Given the description of an element on the screen output the (x, y) to click on. 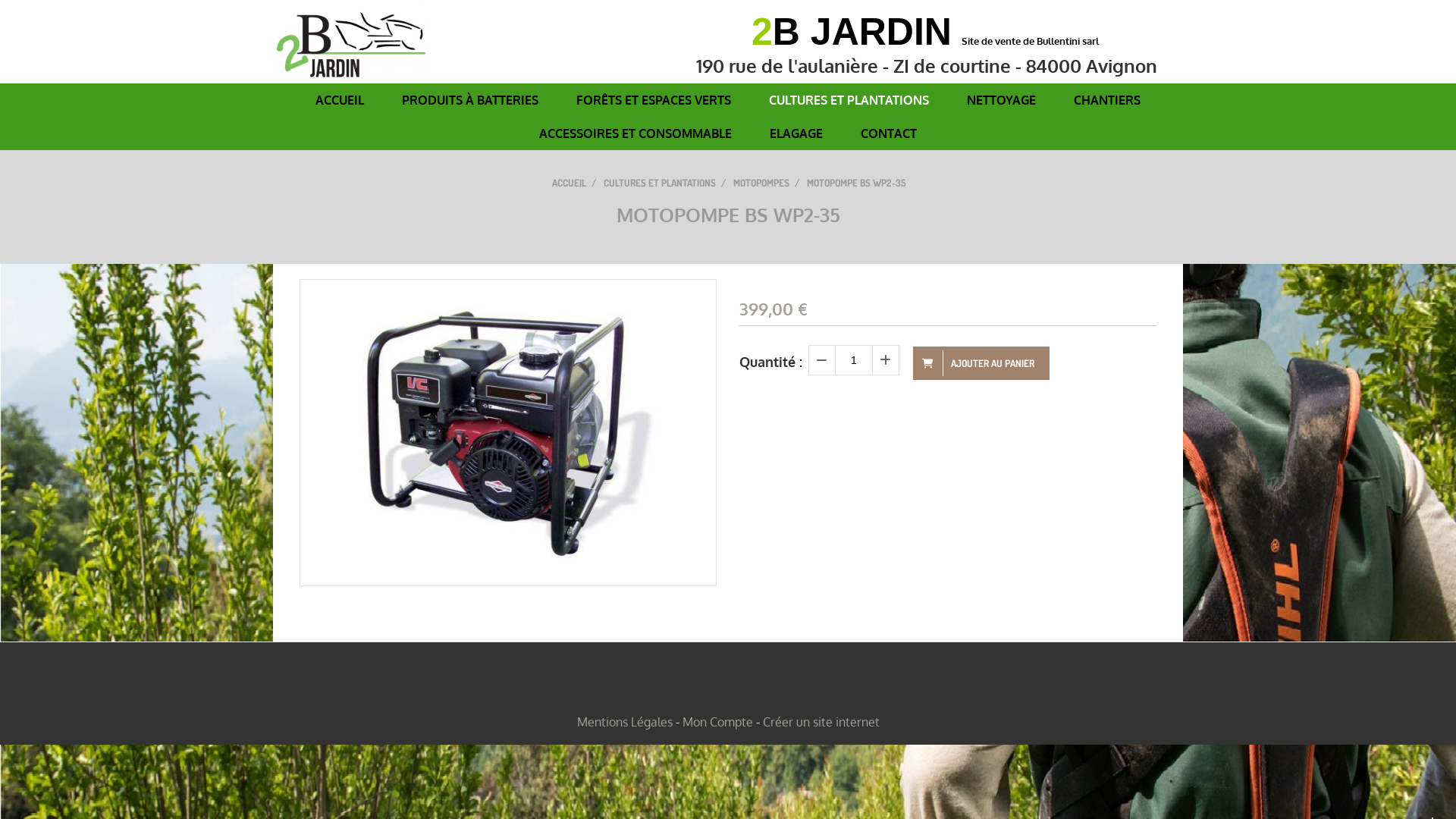
CULTURES ET PLANTATIONS Element type: text (659, 182)
CHANTIERS Element type: text (1106, 99)
MOTOPOMPE BS WP2-35 Element type: text (857, 182)
ELAGAGE Element type: text (795, 133)
Mon Compte Element type: text (717, 721)
AJOUTER AU PANIER Element type: text (981, 362)
ACCESSOIRES ET CONSOMMABLE Element type: text (635, 133)
ACCUEIL Element type: text (569, 182)
ACCUEIL Element type: text (339, 99)
NETTOYAGE Element type: text (1000, 99)
MOTOPOMPES Element type: text (760, 182)
CULTURES ET PLANTATIONS Element type: text (848, 99)
CONTACT Element type: text (888, 133)
